Given the description of an element on the screen output the (x, y) to click on. 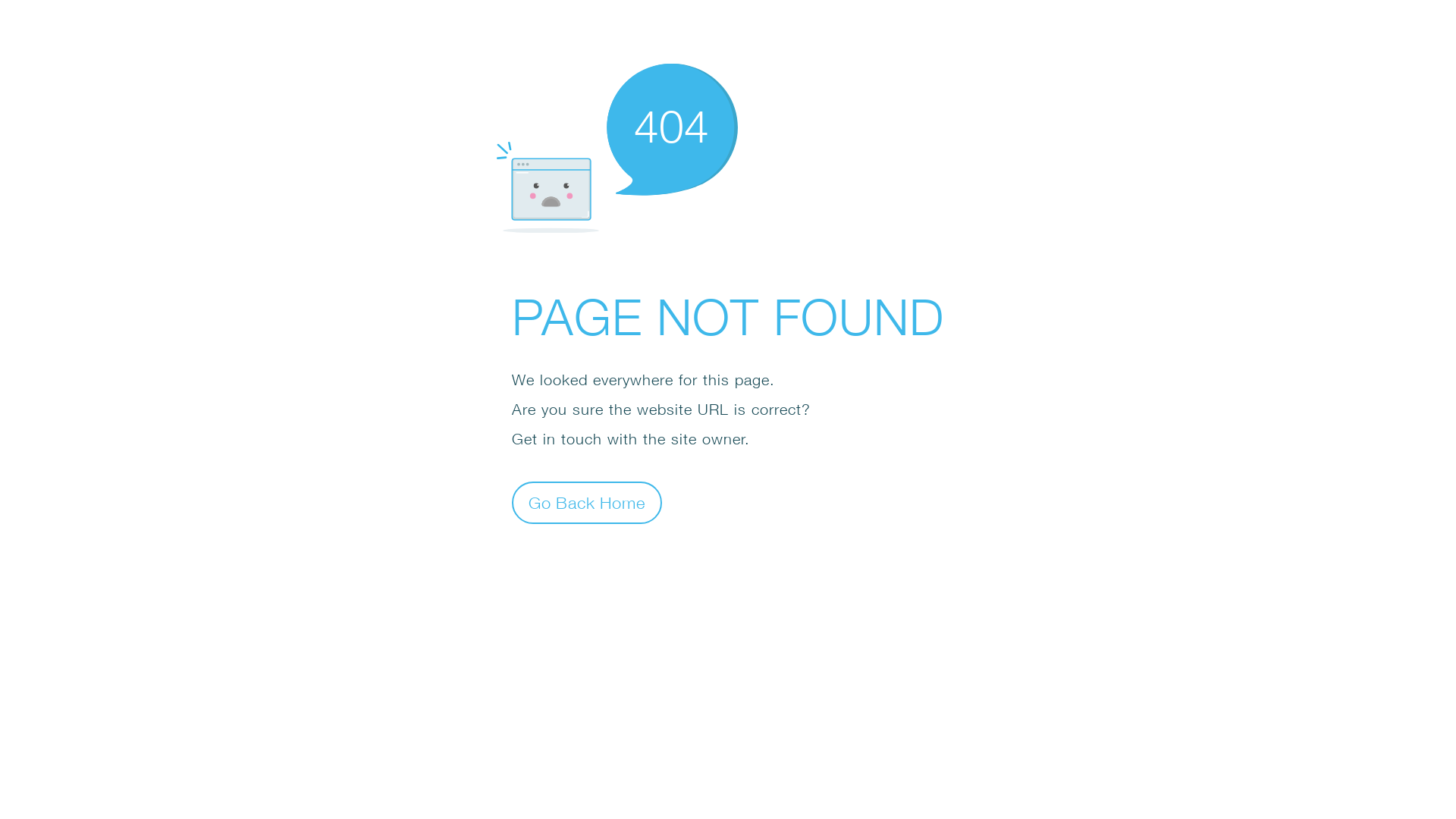
Go Back Home Element type: text (586, 502)
